Given the description of an element on the screen output the (x, y) to click on. 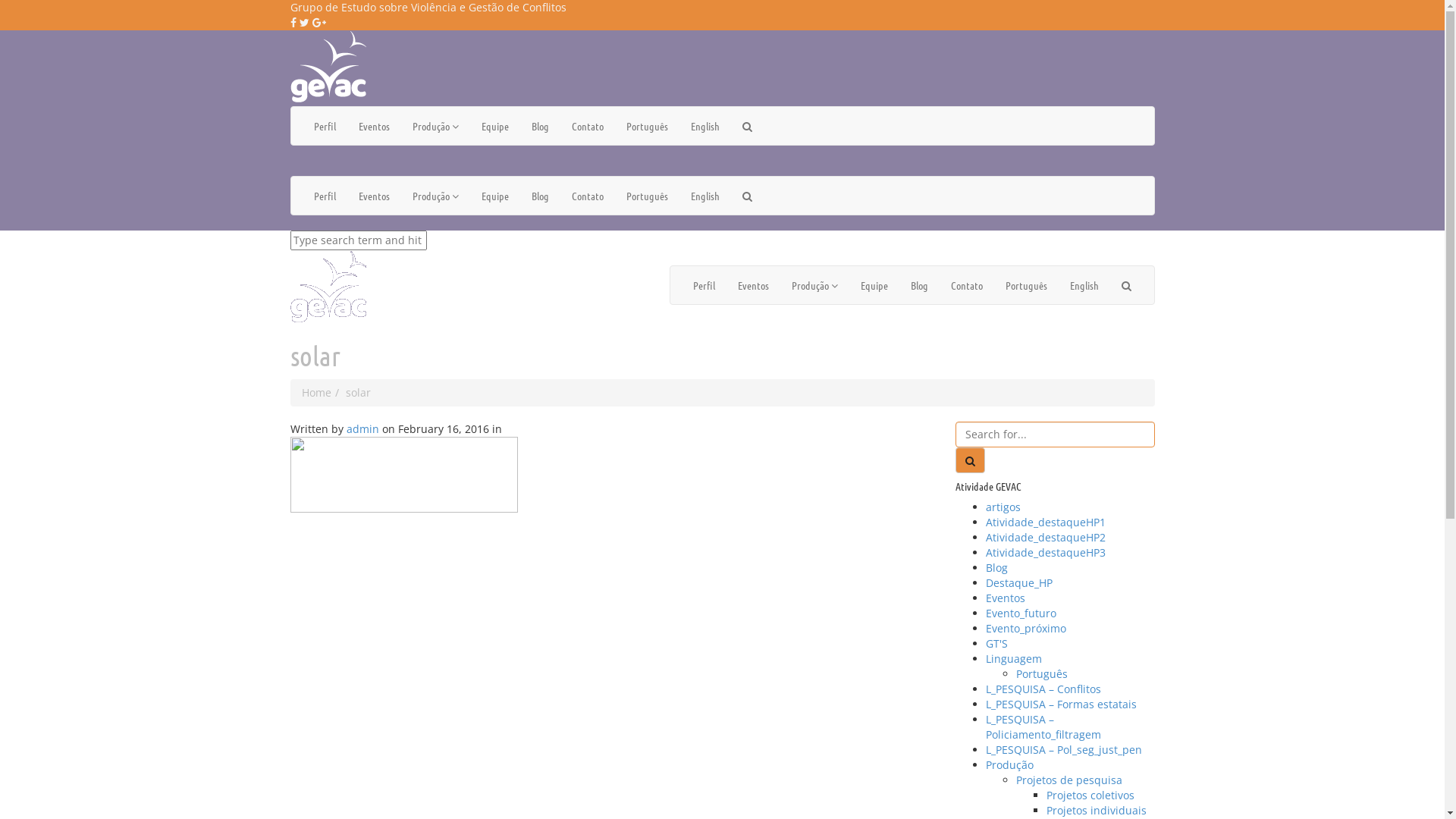
English Element type: text (705, 125)
GT'S Element type: text (996, 643)
Atividade_destaqueHP2 Element type: text (1045, 537)
English Element type: text (705, 195)
Perfil Element type: text (323, 125)
Evento_futuro Element type: text (1020, 612)
Projetos individuais Element type: text (1096, 810)
Blog Element type: text (540, 195)
Eventos Element type: text (1005, 597)
Eventos Element type: text (374, 195)
Blog Element type: text (996, 567)
Contato Element type: text (965, 285)
admin Element type: text (361, 428)
Blog Element type: text (919, 285)
artigos Element type: text (1002, 506)
Projetos coletivos Element type: text (1090, 794)
Home Element type: text (316, 392)
Eventos Element type: text (374, 125)
Perfil Element type: text (702, 285)
Atividade_destaqueHP1 Element type: text (1045, 521)
Eventos Element type: text (753, 285)
Blog Element type: text (540, 125)
Perfil Element type: text (323, 195)
Contato Element type: text (586, 125)
Equipe Element type: text (874, 285)
English Element type: text (1084, 285)
Projetos de pesquisa Element type: text (1069, 779)
Contato Element type: text (586, 195)
Atividade_destaqueHP3 Element type: text (1045, 552)
Equipe Element type: text (495, 195)
Linguagem Element type: text (1013, 658)
Equipe Element type: text (495, 125)
Destaque_HP Element type: text (1018, 582)
